Given the description of an element on the screen output the (x, y) to click on. 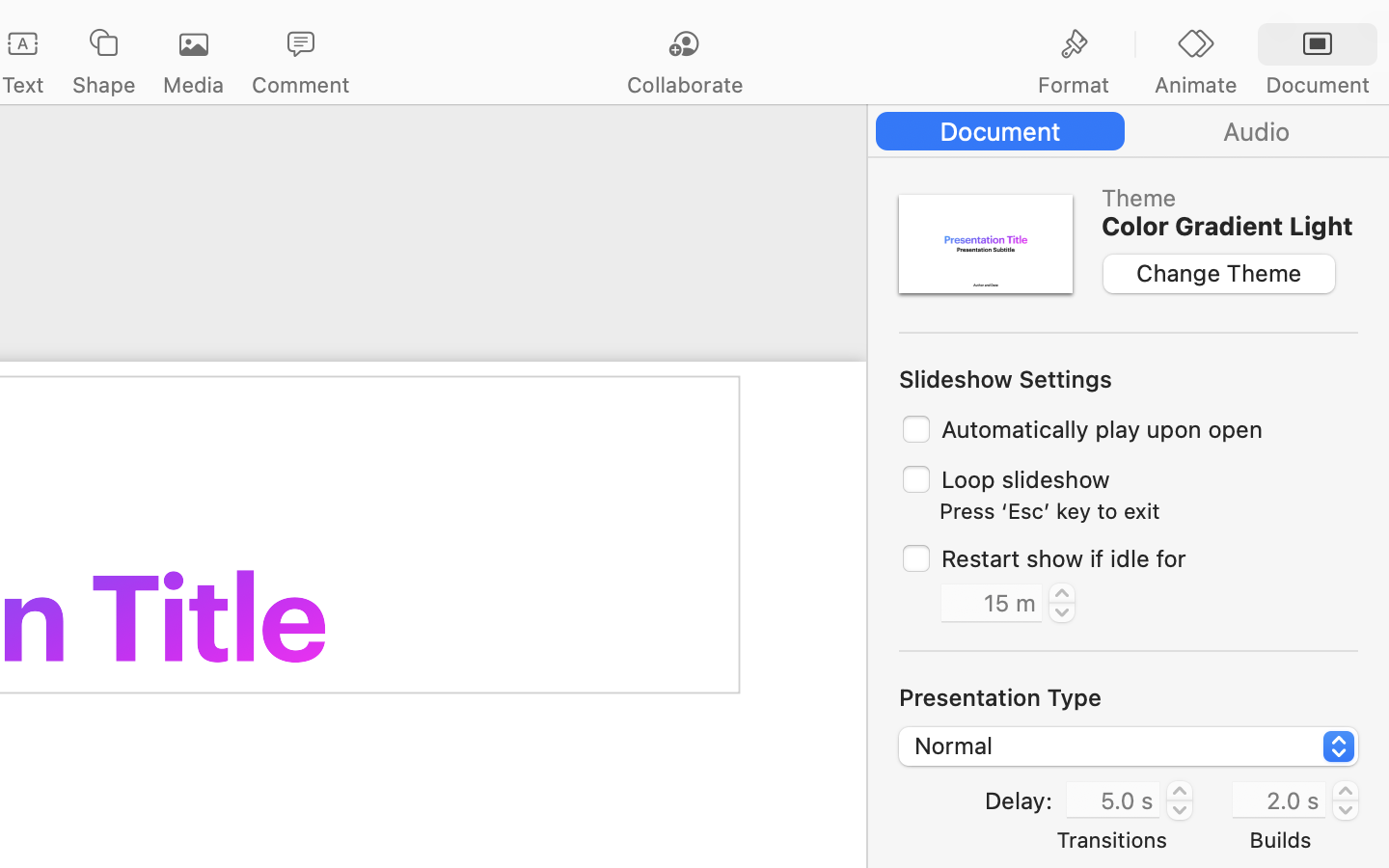
Color Gradient Light Element type: AXStaticText (1226, 225)
<AXUIElement 0x153d7b500> {pid=1697} Element type: AXGroup (1195, 45)
15 m Element type: AXTextField (991, 602)
Delay: Element type: AXStaticText (1017, 799)
Theme Element type: AXStaticText (1226, 197)
